Given the description of an element on the screen output the (x, y) to click on. 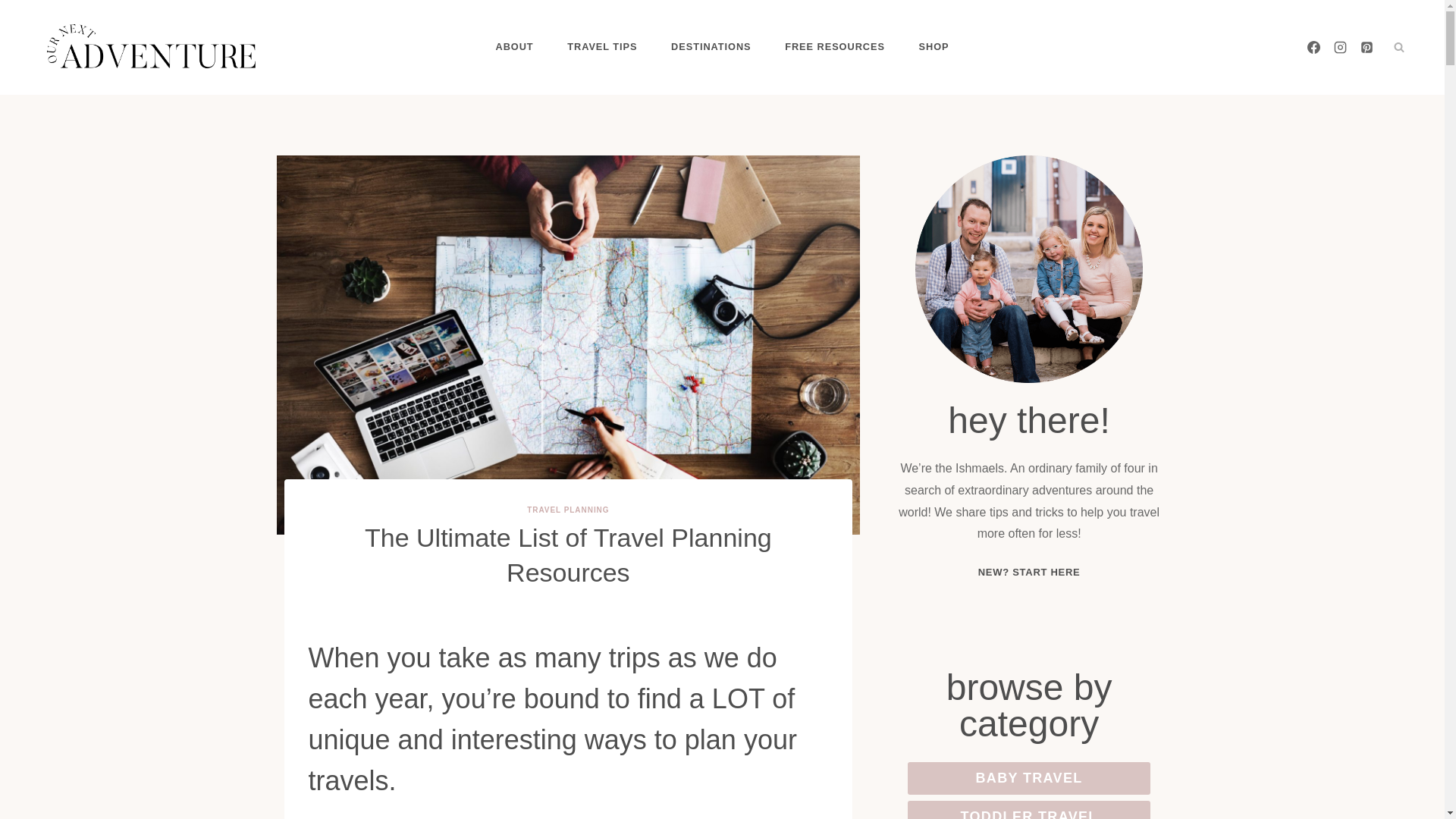
SHOP (933, 46)
DESTINATIONS (710, 46)
ABOUT (514, 46)
TRAVEL PLANNING (567, 510)
TRAVEL TIPS (601, 46)
FREE RESOURCES (834, 46)
